Given the description of an element on the screen output the (x, y) to click on. 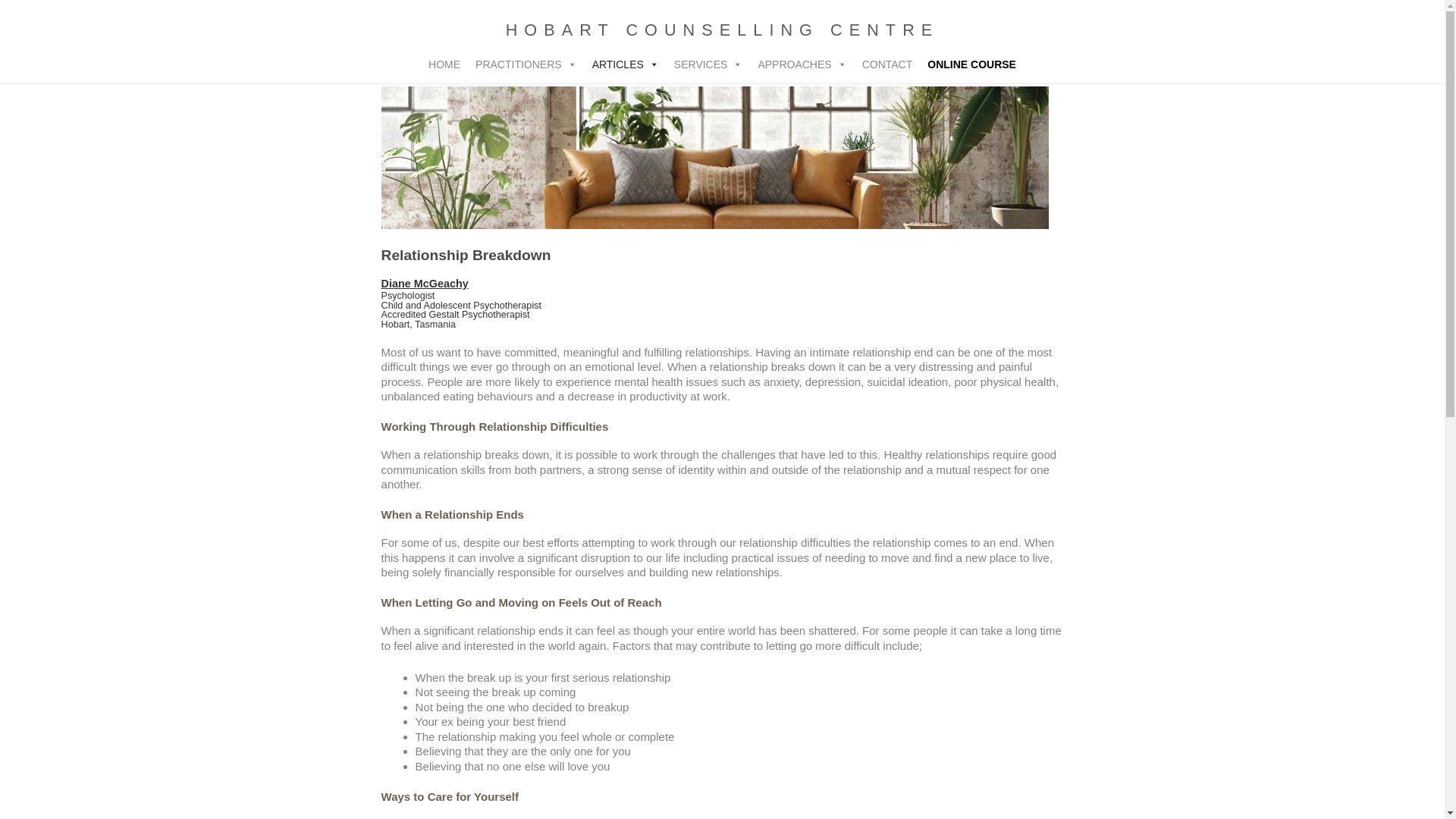
CONTACT Element type: text (887, 64)
HOME Element type: text (443, 64)
HOBART COUNSELLING CENTRE Element type: text (722, 29)
PRACTITIONERS Element type: text (525, 64)
ONLINE COURSE Element type: text (971, 64)
ARTICLES Element type: text (625, 64)
SERVICES Element type: text (708, 64)
APPROACHES Element type: text (801, 64)
Diane McGeachy Element type: text (424, 283)
